Given the description of an element on the screen output the (x, y) to click on. 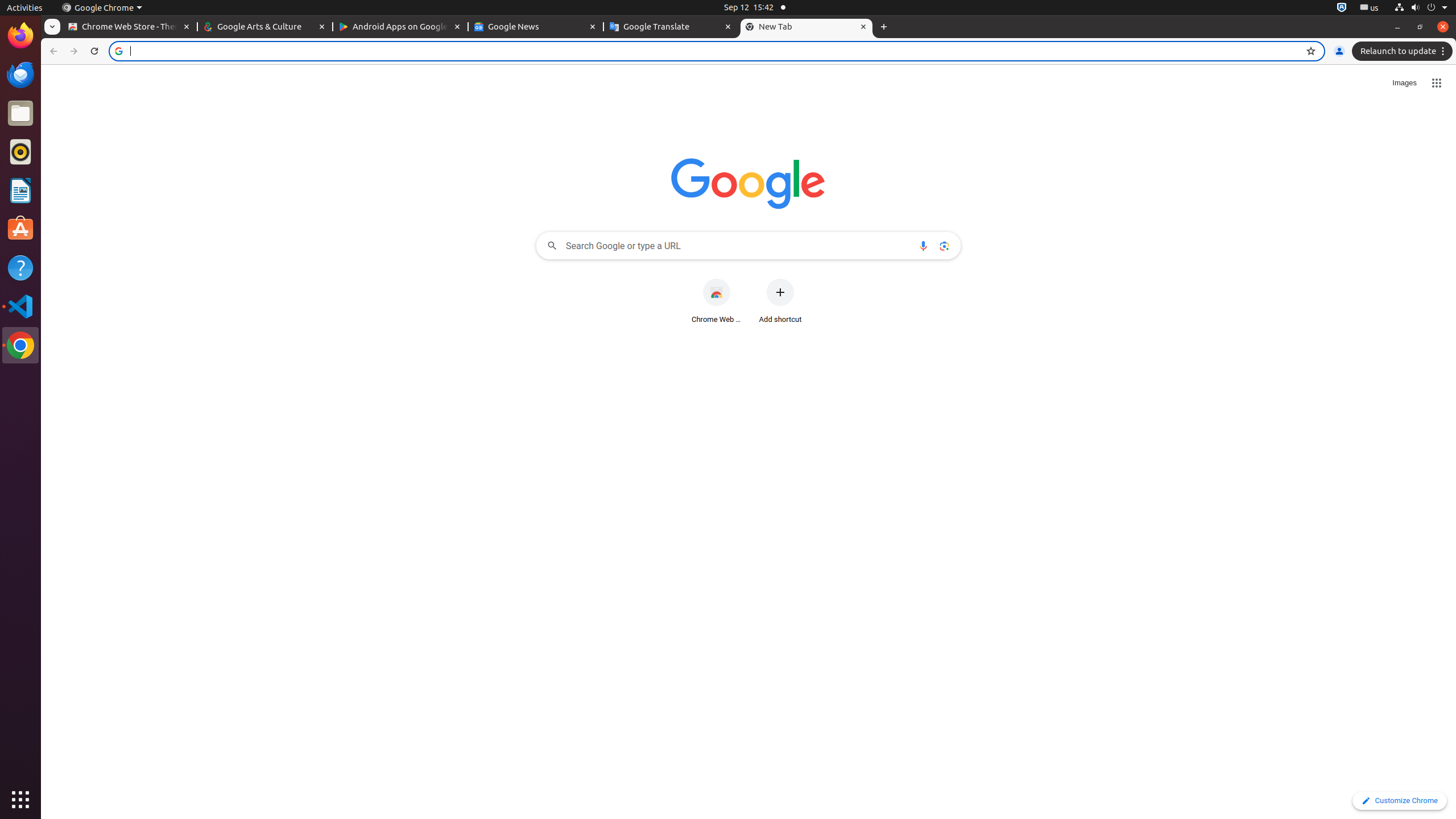
Visual Studio Code Element type: push-button (20, 306)
Files Element type: push-button (20, 113)
Search by image Element type: push-button (943, 245)
